Given the description of an element on the screen output the (x, y) to click on. 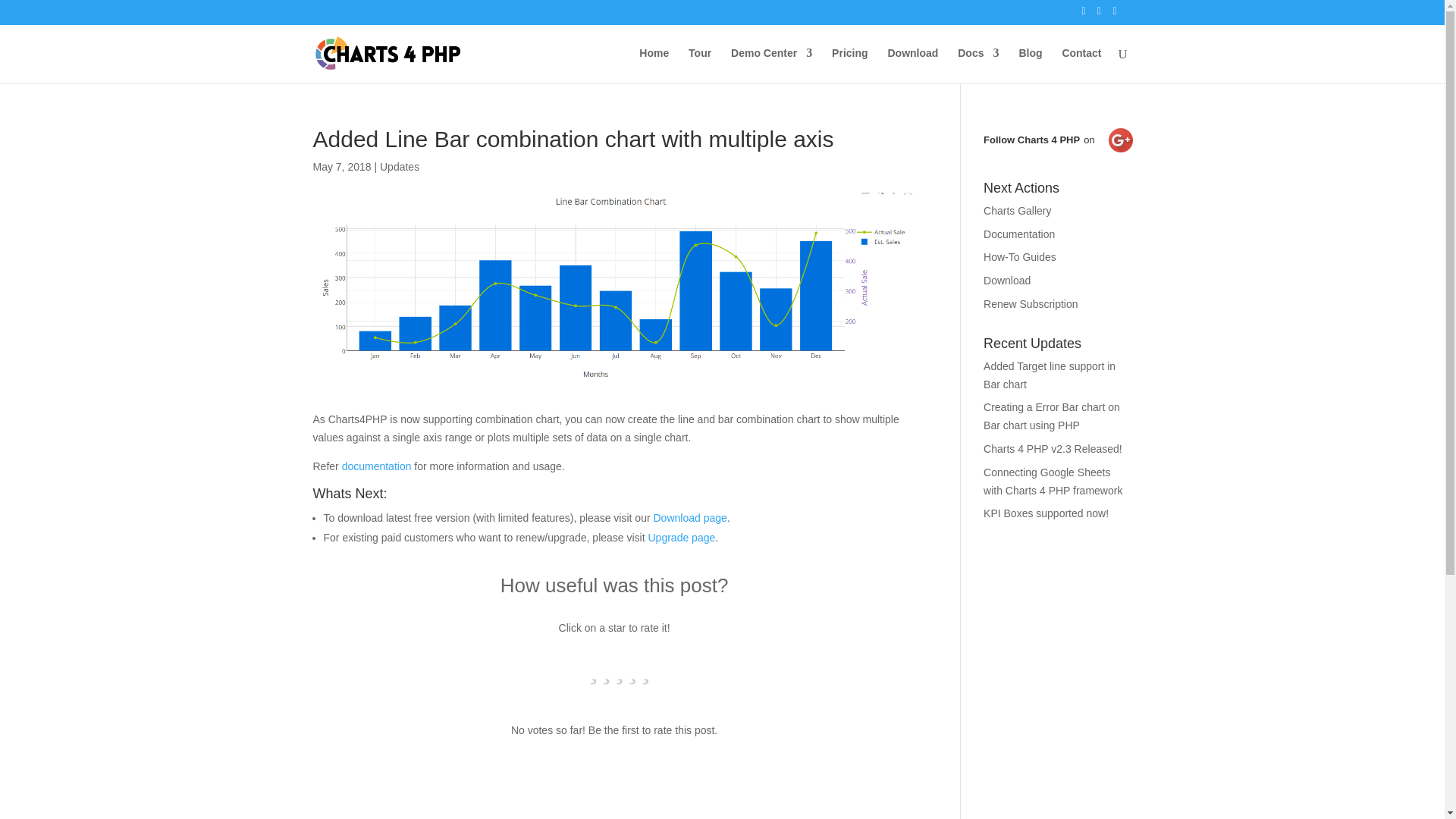
Download (911, 65)
KPI Boxes supported now! (1046, 512)
Creating a Error Bar chart on Bar chart using PHP (1051, 416)
Download page (689, 517)
Added Target line support in Bar chart (1049, 375)
Updates (399, 166)
Connecting Google Sheets with Charts 4 PHP framework (1053, 481)
Docs (978, 65)
Upgrade page (680, 537)
documentation (378, 466)
